Given the description of an element on the screen output the (x, y) to click on. 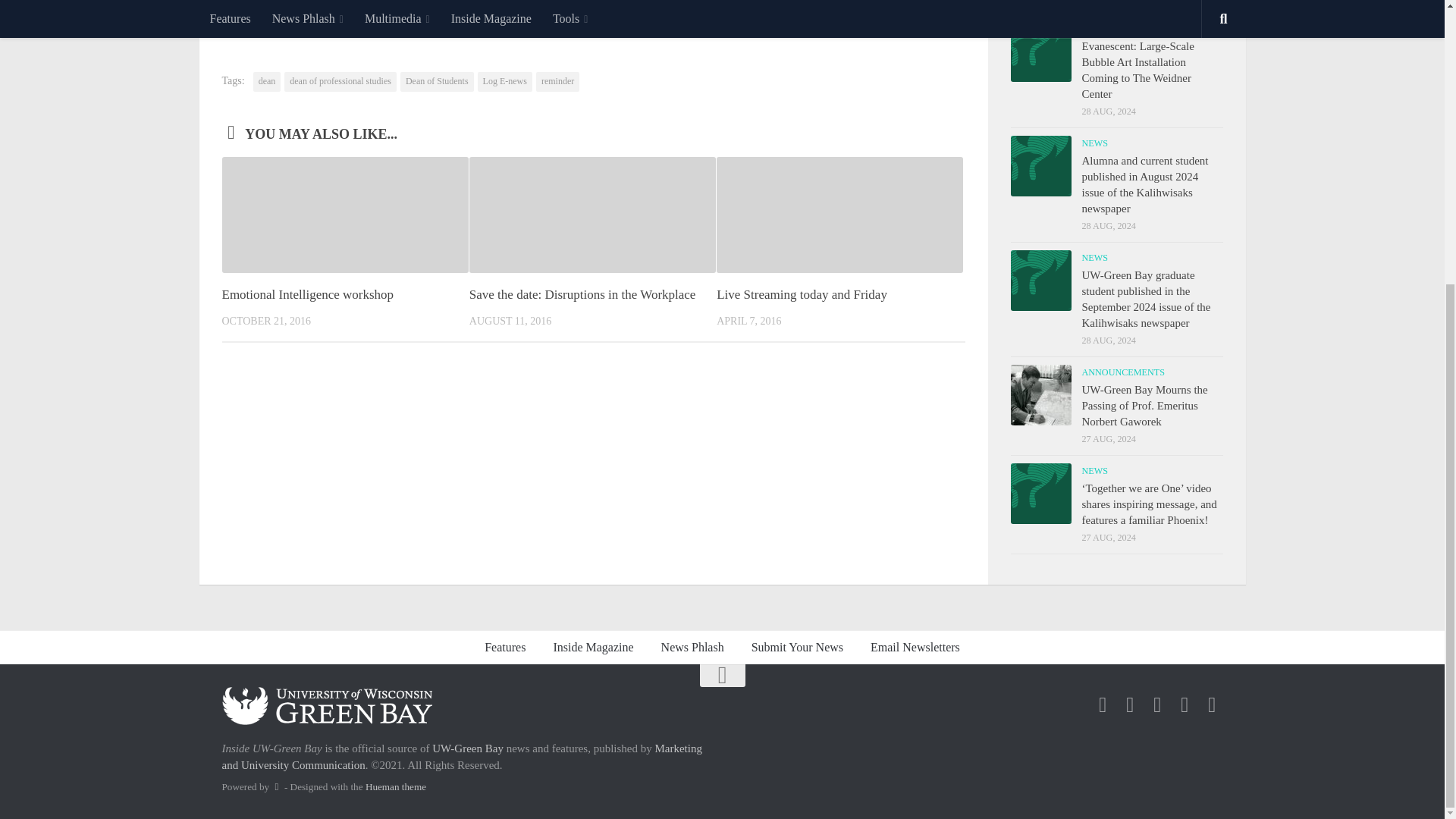
Emotional Intelligence workshop (307, 294)
dean (267, 81)
Dean of Students (437, 81)
dean of professional studies (339, 81)
Log E-news (504, 81)
Tags (1169, 2)
Recent Posts (1063, 2)
reminder (557, 81)
